Given the description of an element on the screen output the (x, y) to click on. 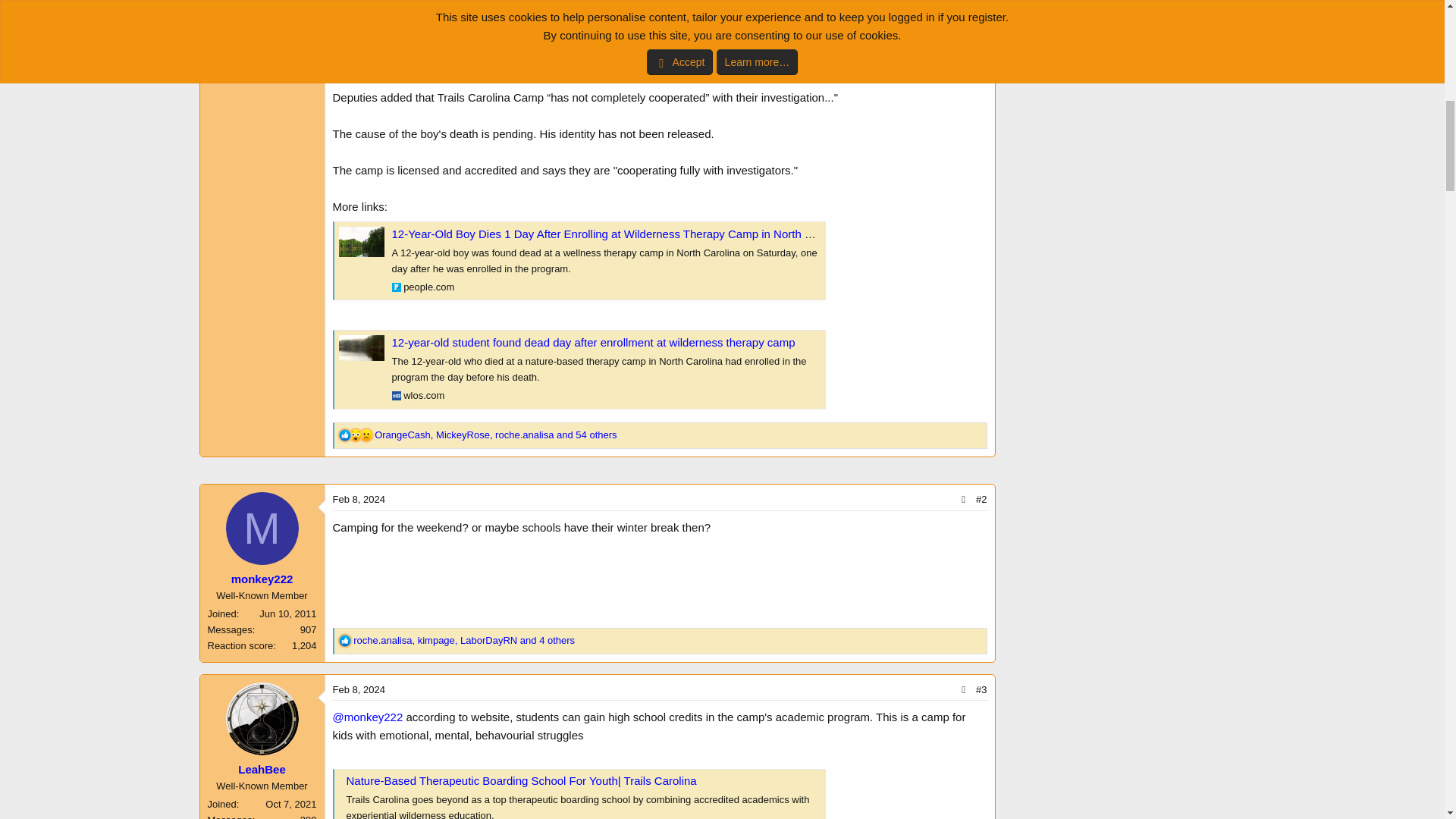
Like (343, 435)
Feb 8, 2024 at 5:00 AM (357, 499)
Wow (355, 435)
Like (343, 640)
Sad (365, 435)
